Given the description of an element on the screen output the (x, y) to click on. 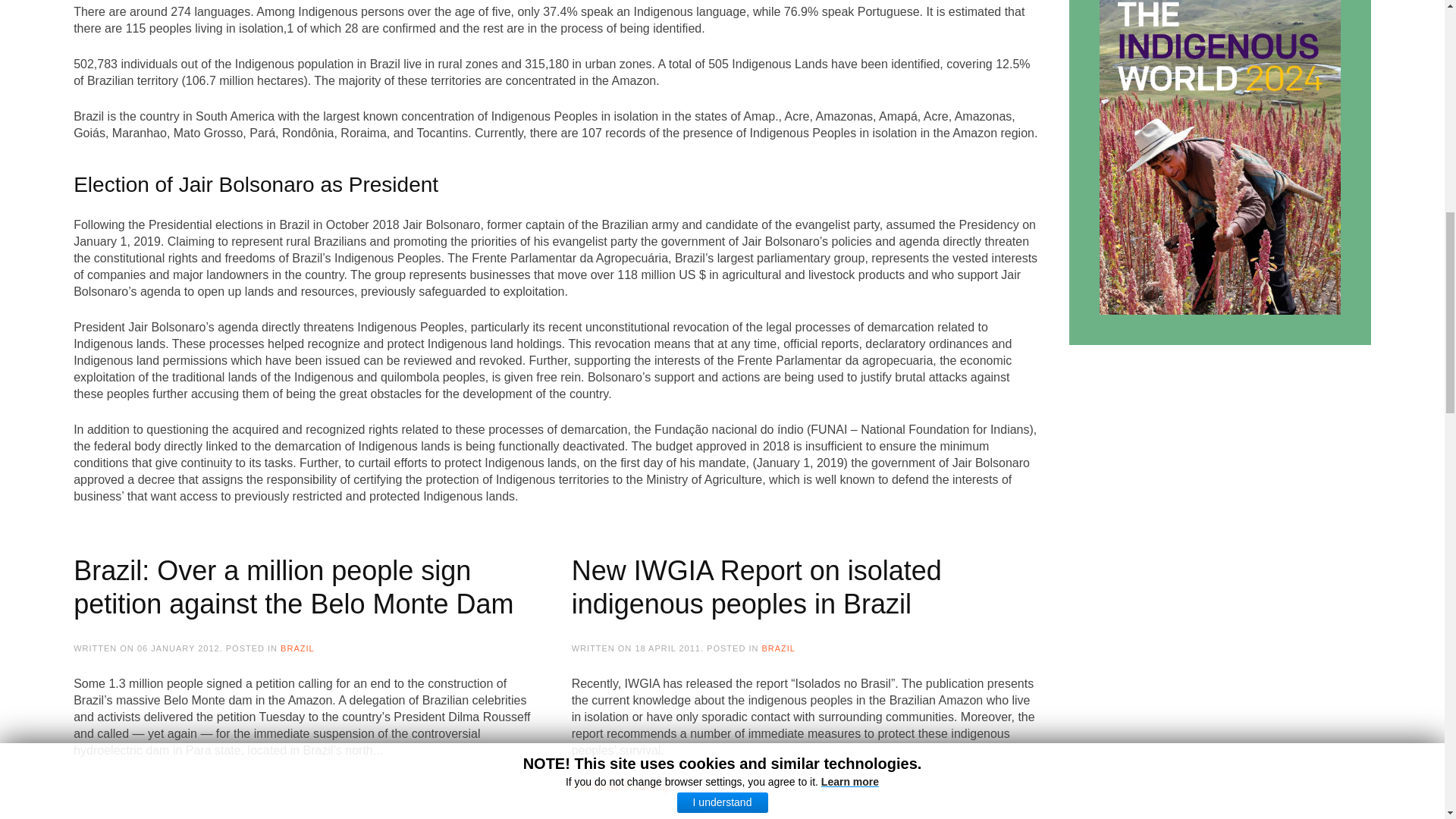
New IWGIA Report on isolated indigenous peoples in Brazil (757, 587)
BRAZIL (777, 647)
New IWGIA Report on isolated indigenous peoples in Brazil (620, 785)
New IWGIA Report on isolated indigenous peoples in Brazil (757, 587)
BRAZIL (297, 647)
